Given the description of an element on the screen output the (x, y) to click on. 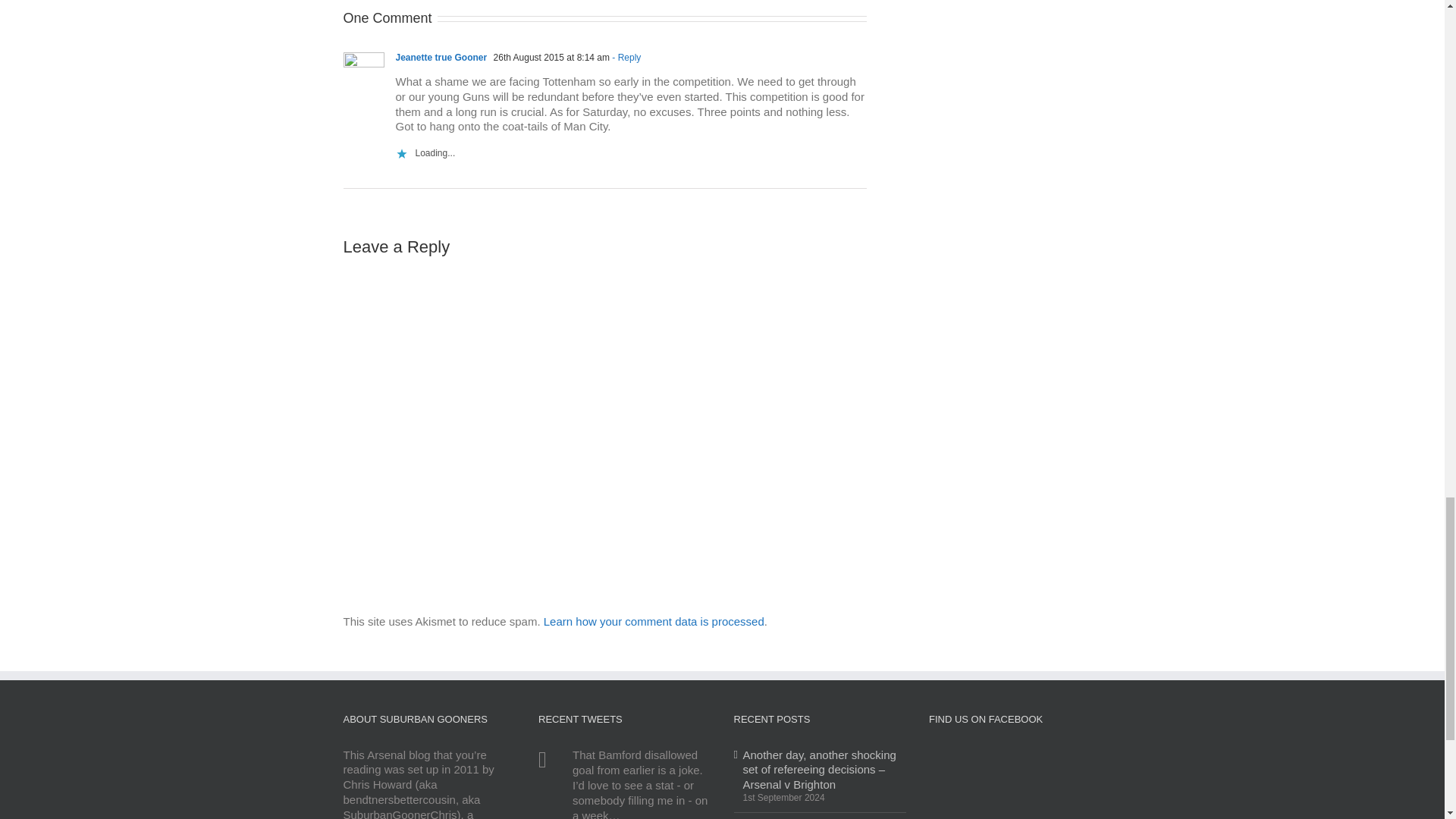
Learn how your comment data is processed (653, 621)
- Reply (625, 57)
Jeanette true Gooner (441, 57)
